Given the description of an element on the screen output the (x, y) to click on. 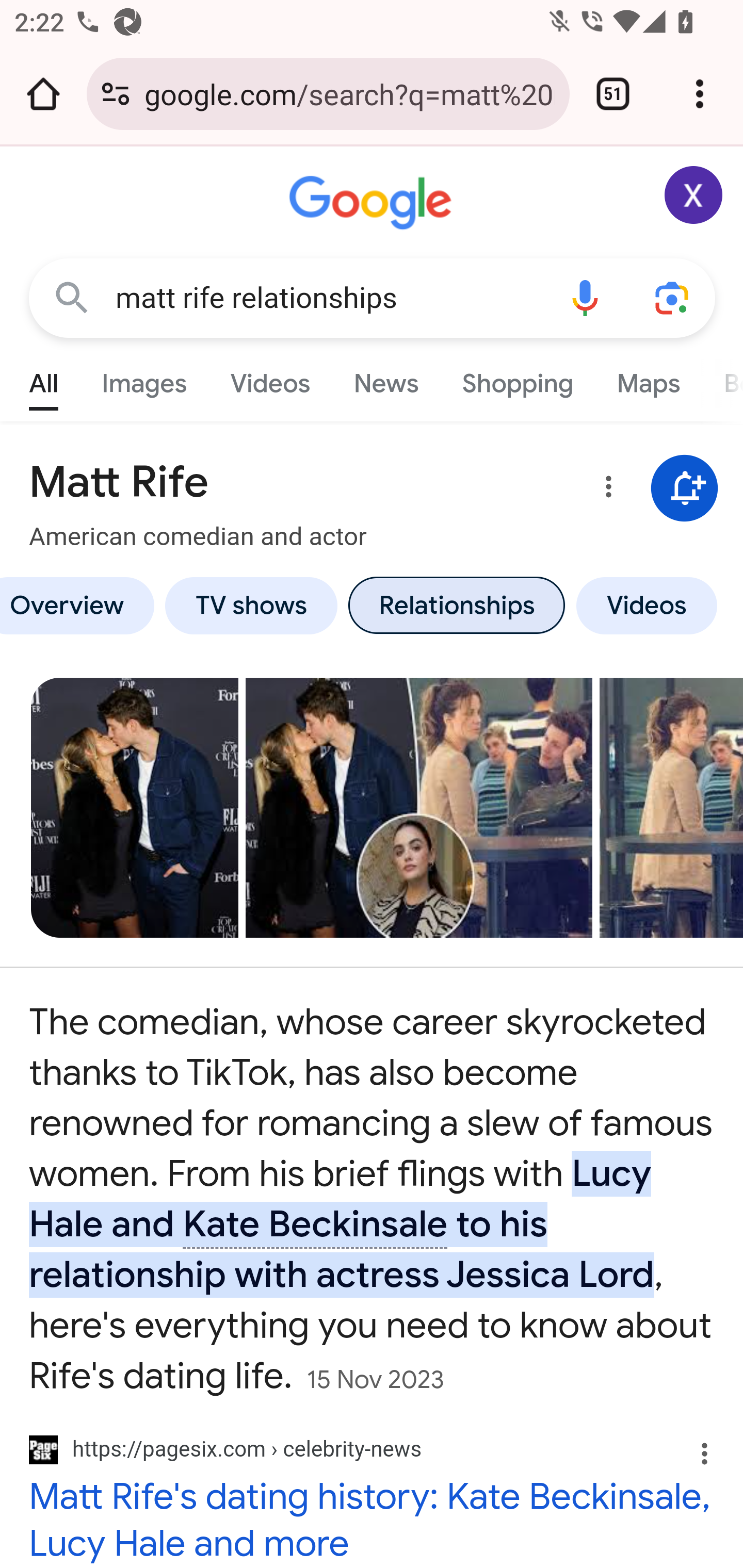
Open the home page (43, 93)
Connection is secure (115, 93)
Switch or close tabs (612, 93)
Customize and control Google Chrome (699, 93)
Google (372, 203)
Google Account: Xiaoran (zxrappiumtest@gmail.com) (694, 195)
Google Search (71, 296)
Search using your camera or photos (672, 296)
matt rife relationships (328, 297)
Images (144, 378)
Videos (270, 378)
News (385, 378)
Shopping (516, 378)
Maps (647, 378)
Get notifications about Matt Rife (684, 489)
More options (605, 489)
Overview (80, 605)
TV shows (251, 605)
Relationships (456, 605)
Videos (646, 605)
Kate Beckinsale (315, 1224)
